Given the description of an element on the screen output the (x, y) to click on. 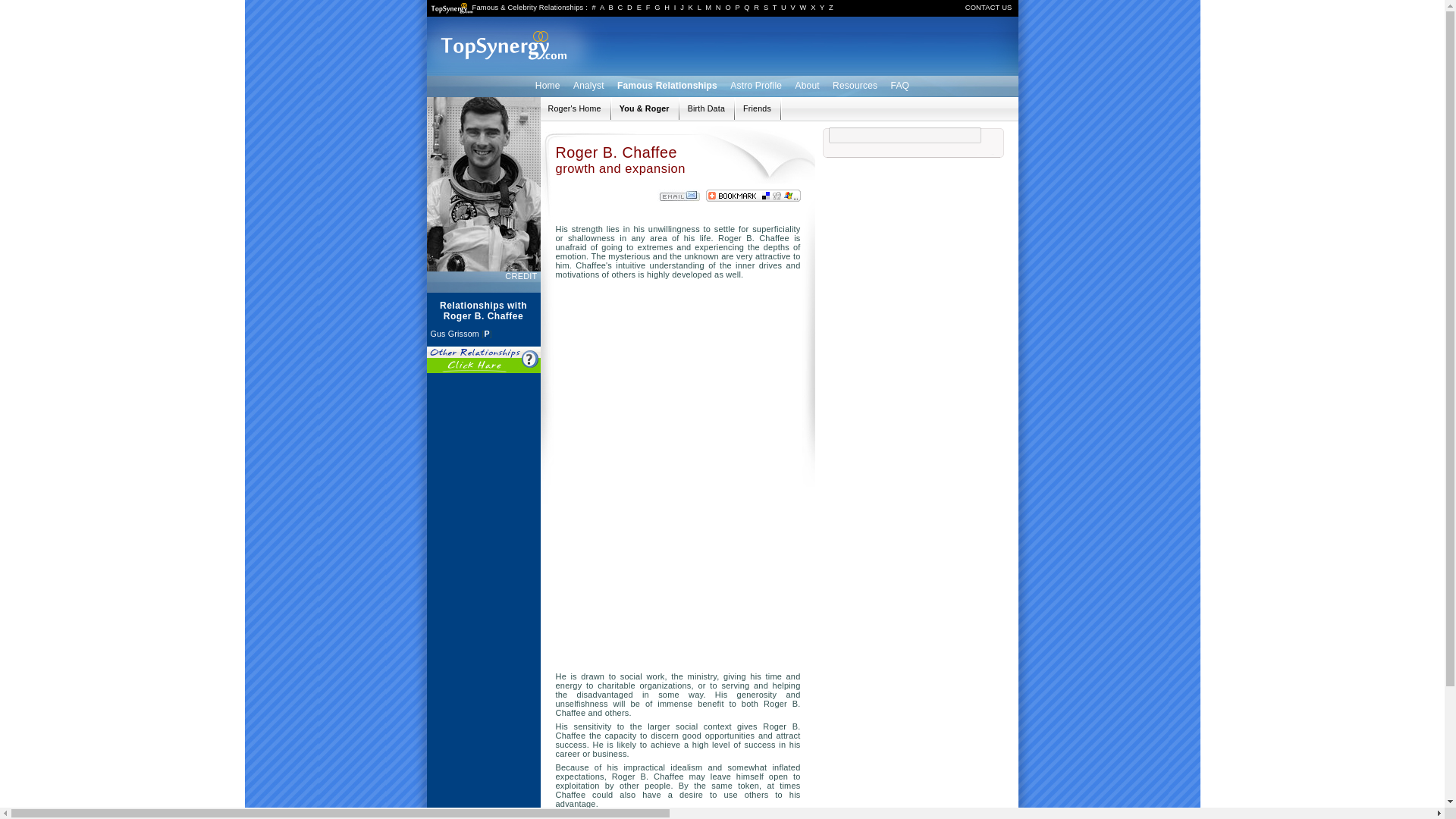
Roger's links and resources (756, 108)
CREDIT (522, 275)
About (806, 85)
Relationships with Roger B. Chaffee (573, 108)
Analyst (588, 85)
Resources (854, 85)
Astrological birth data for Roger B. Chaffee (706, 108)
Famous Relationships (666, 85)
CONTACT US (988, 7)
Astro Profile (756, 85)
